Given the description of an element on the screen output the (x, y) to click on. 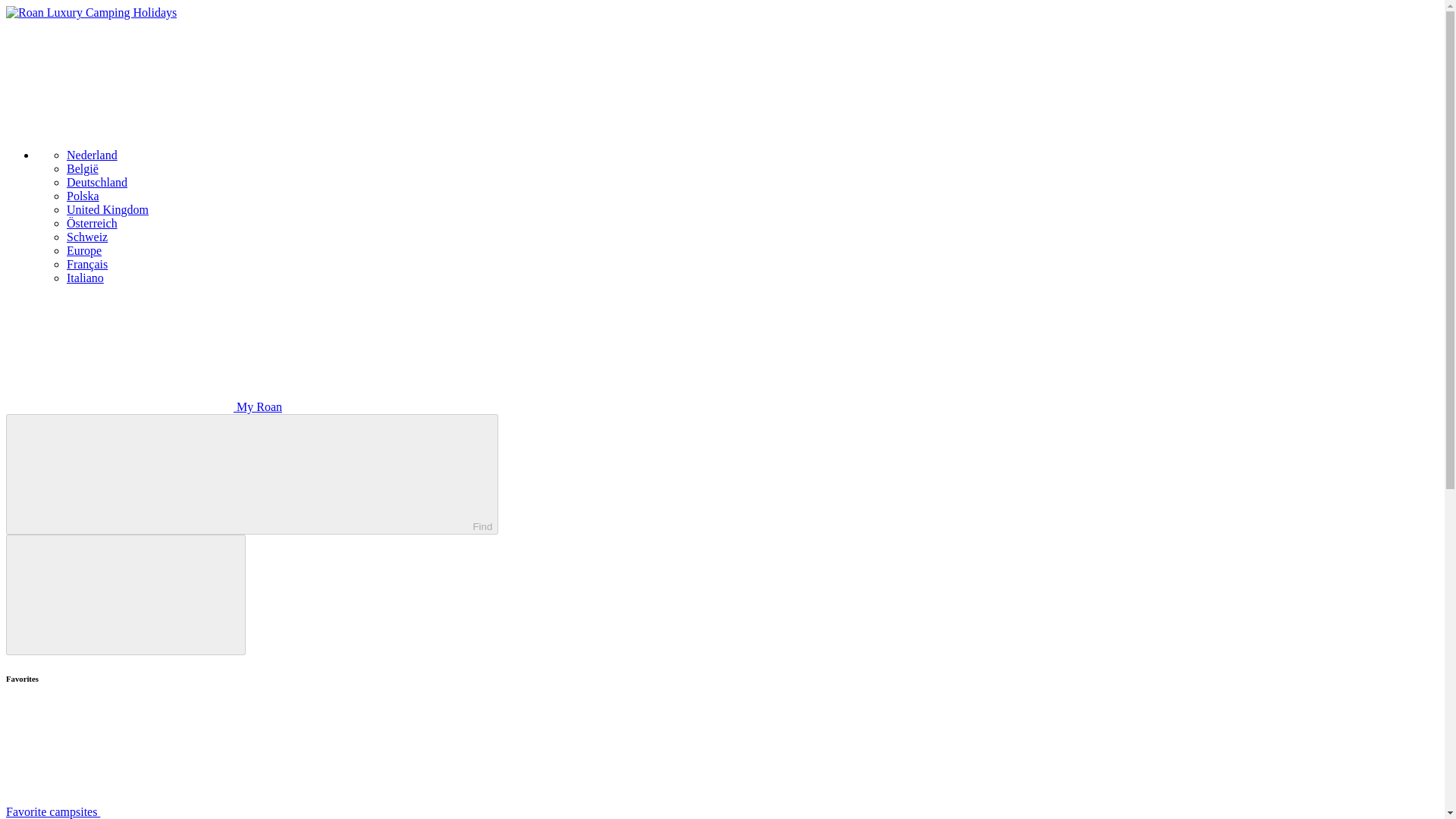
Favorite campsites (166, 811)
Find (251, 474)
Europe (83, 250)
Nederland (91, 154)
Deutschland (97, 182)
Schweiz (86, 236)
My Roan (143, 406)
Polska (82, 195)
United Kingdom (107, 209)
Italiano (84, 277)
